Given the description of an element on the screen output the (x, y) to click on. 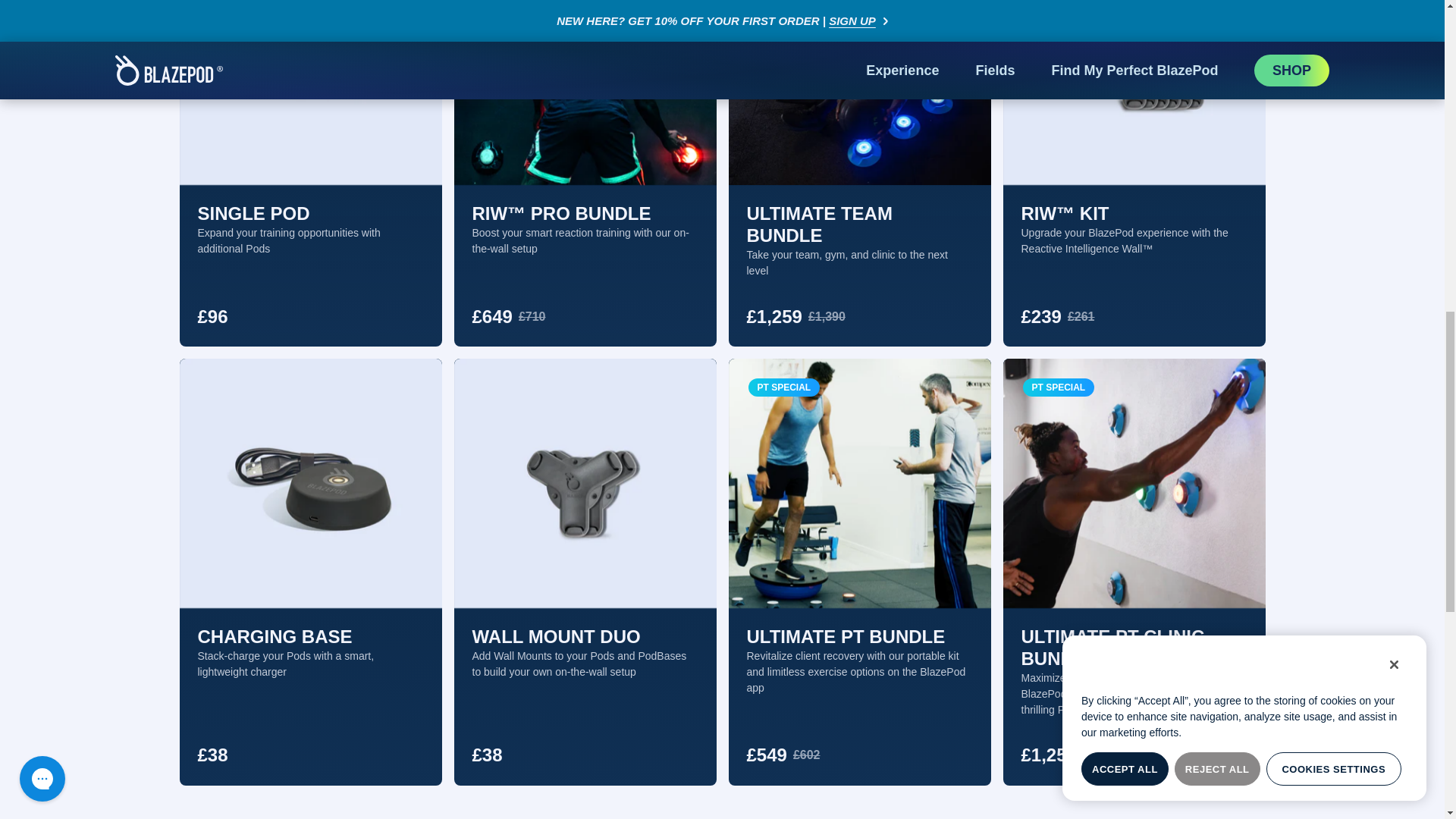
Single pod (310, 92)
Charging base (310, 483)
Wall Mount Duo (584, 483)
Ultimate PT CLINIC bundle (1134, 483)
Ultimate Team Bundle (859, 92)
Ultimate PT Bundle (859, 483)
